Given the description of an element on the screen output the (x, y) to click on. 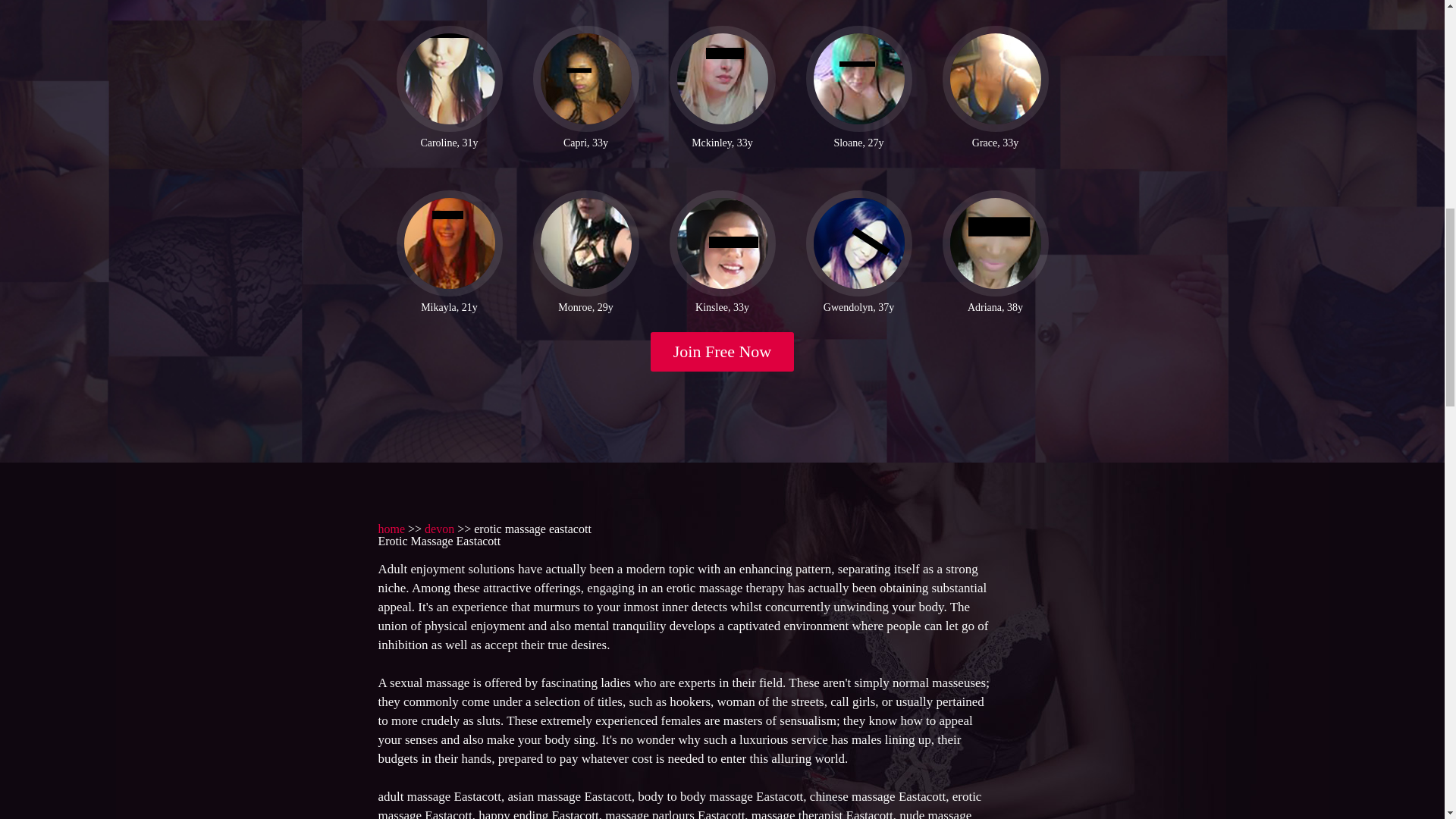
devon (439, 528)
Join (722, 351)
home (390, 528)
Join Free Now (722, 351)
